Given the description of an element on the screen output the (x, y) to click on. 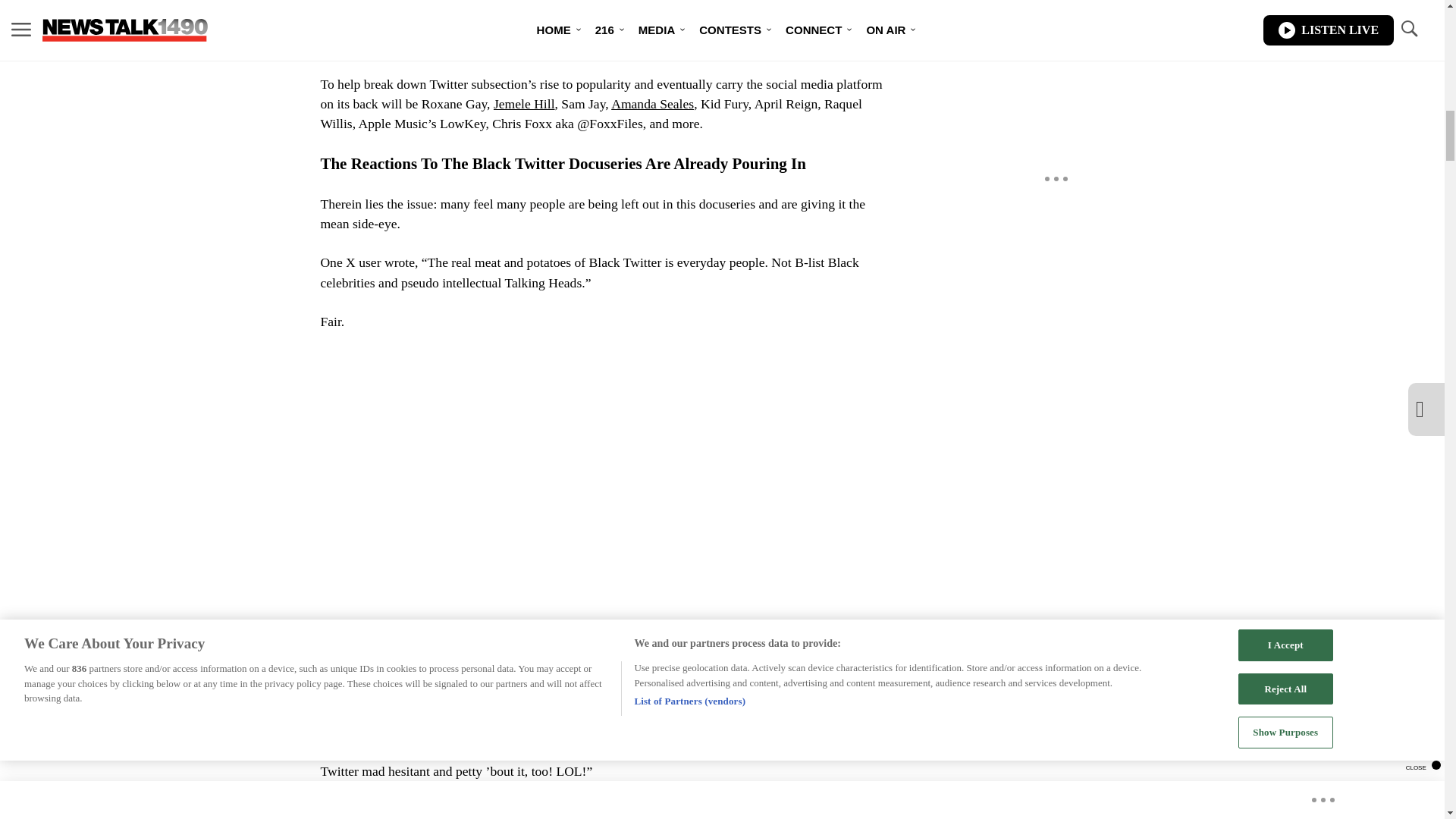
Embedded video (607, 486)
Jemele Hill (523, 103)
Amanda Seales (652, 103)
